Given the description of an element on the screen output the (x, y) to click on. 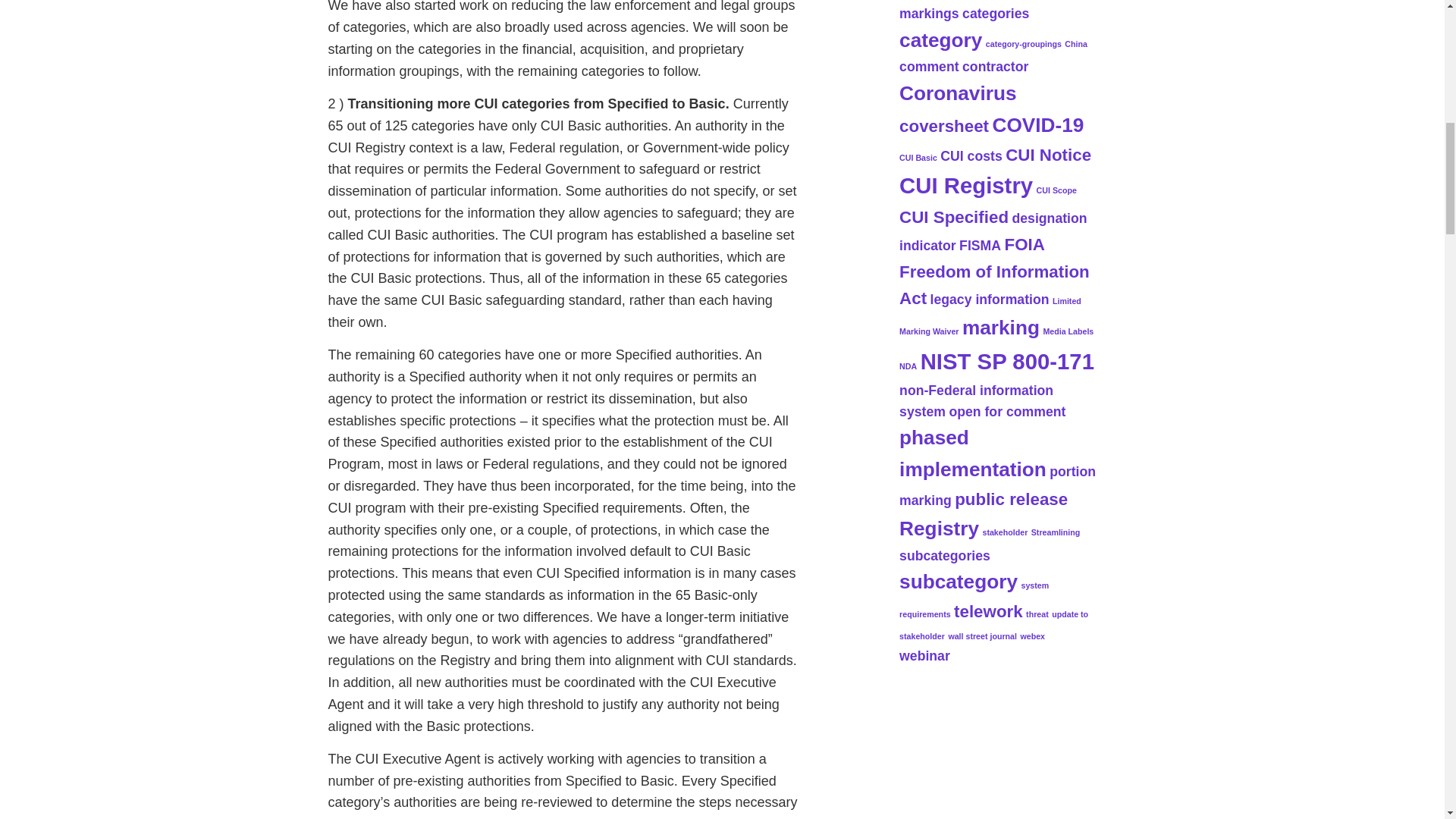
category (940, 39)
categories (995, 13)
Coronavirus (957, 92)
category-groupings (1023, 43)
China (1075, 43)
comment (929, 66)
banner markings (994, 10)
contractor (994, 66)
